Given the description of an element on the screen output the (x, y) to click on. 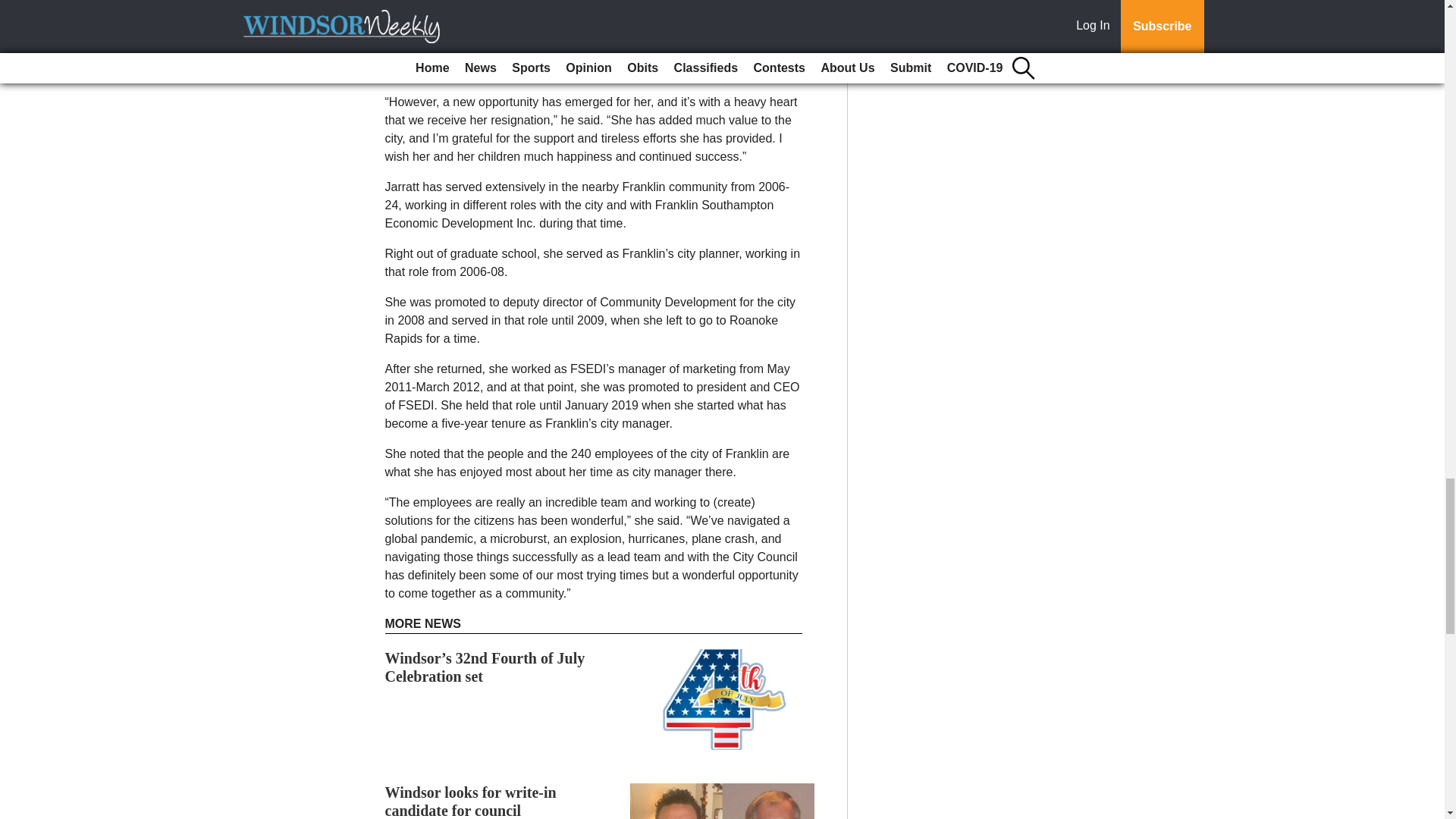
Windsor looks for write-in candidate for council (470, 801)
Windsor looks for write-in candidate for council (470, 801)
